Given the description of an element on the screen output the (x, y) to click on. 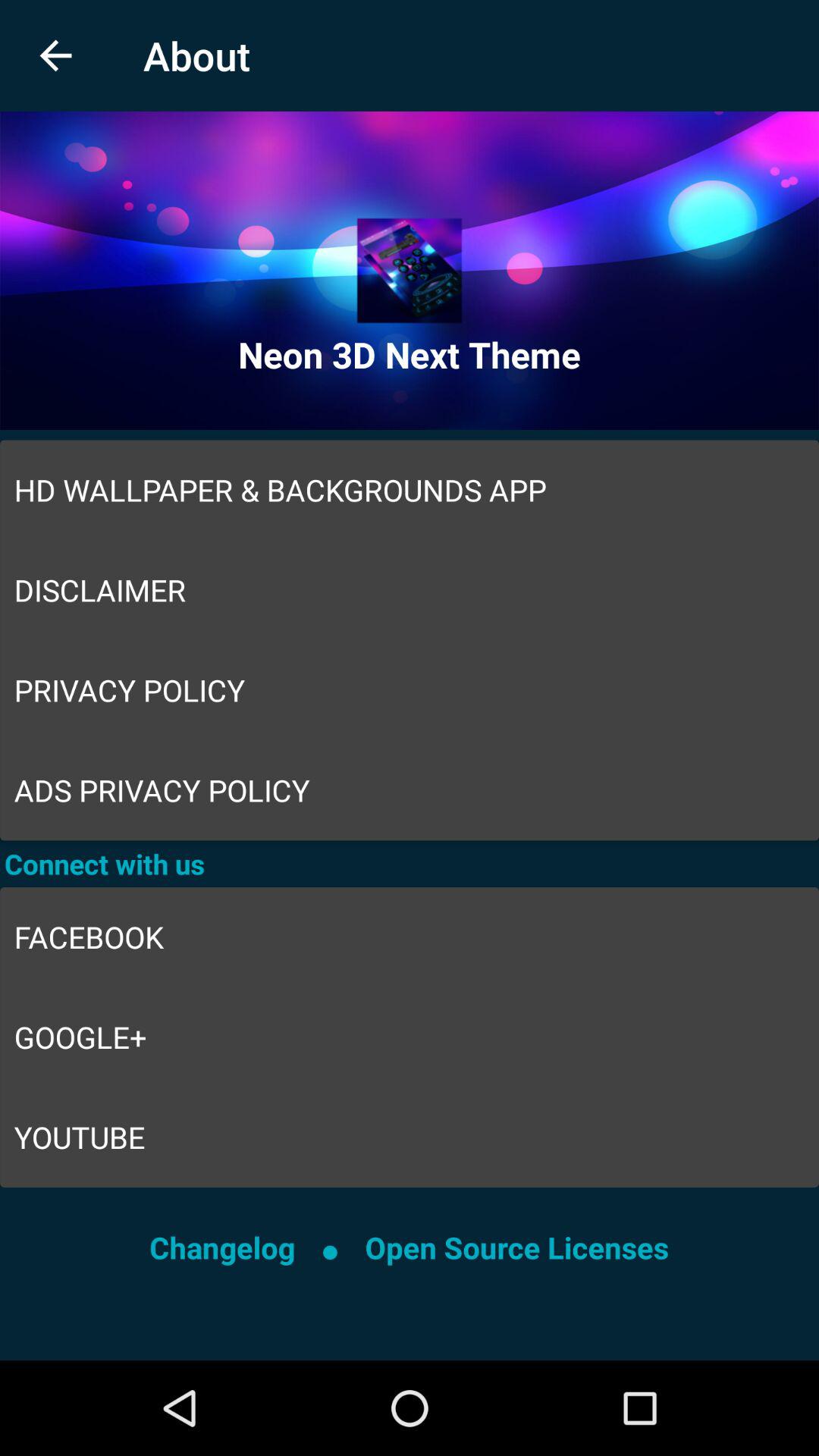
scroll to disclaimer item (409, 590)
